Given the description of an element on the screen output the (x, y) to click on. 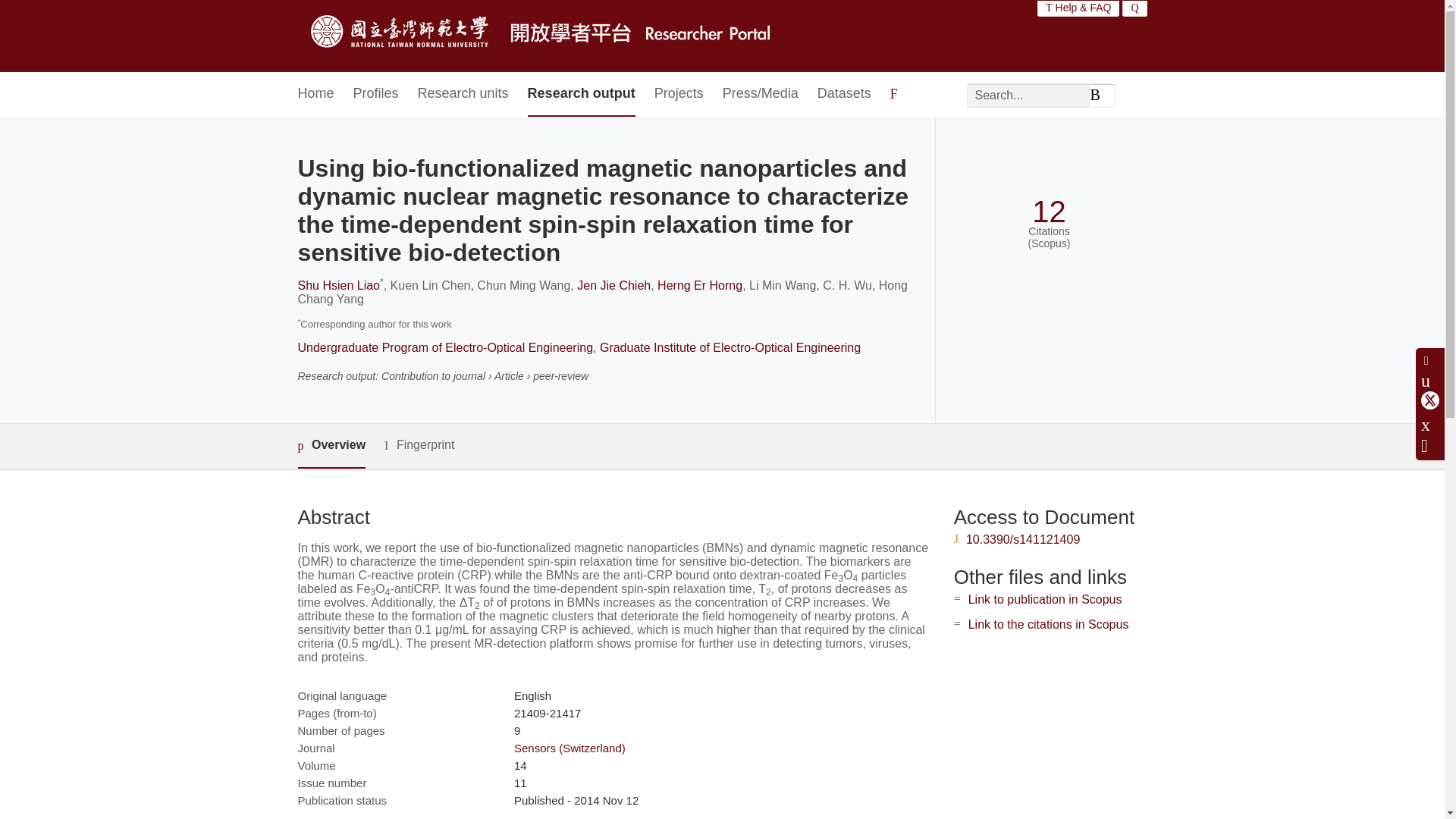
Overview (331, 446)
Profiles (375, 94)
Projects (678, 94)
Fingerprint (419, 445)
Jen Jie Chieh (613, 285)
Graduate Institute of Electro-Optical Engineering (729, 347)
National Taiwan Normal University Home (543, 35)
Datasets (843, 94)
Undergraduate Program of Electro-Optical Engineering (444, 347)
Shu Hsien Liao (338, 285)
